Given the description of an element on the screen output the (x, y) to click on. 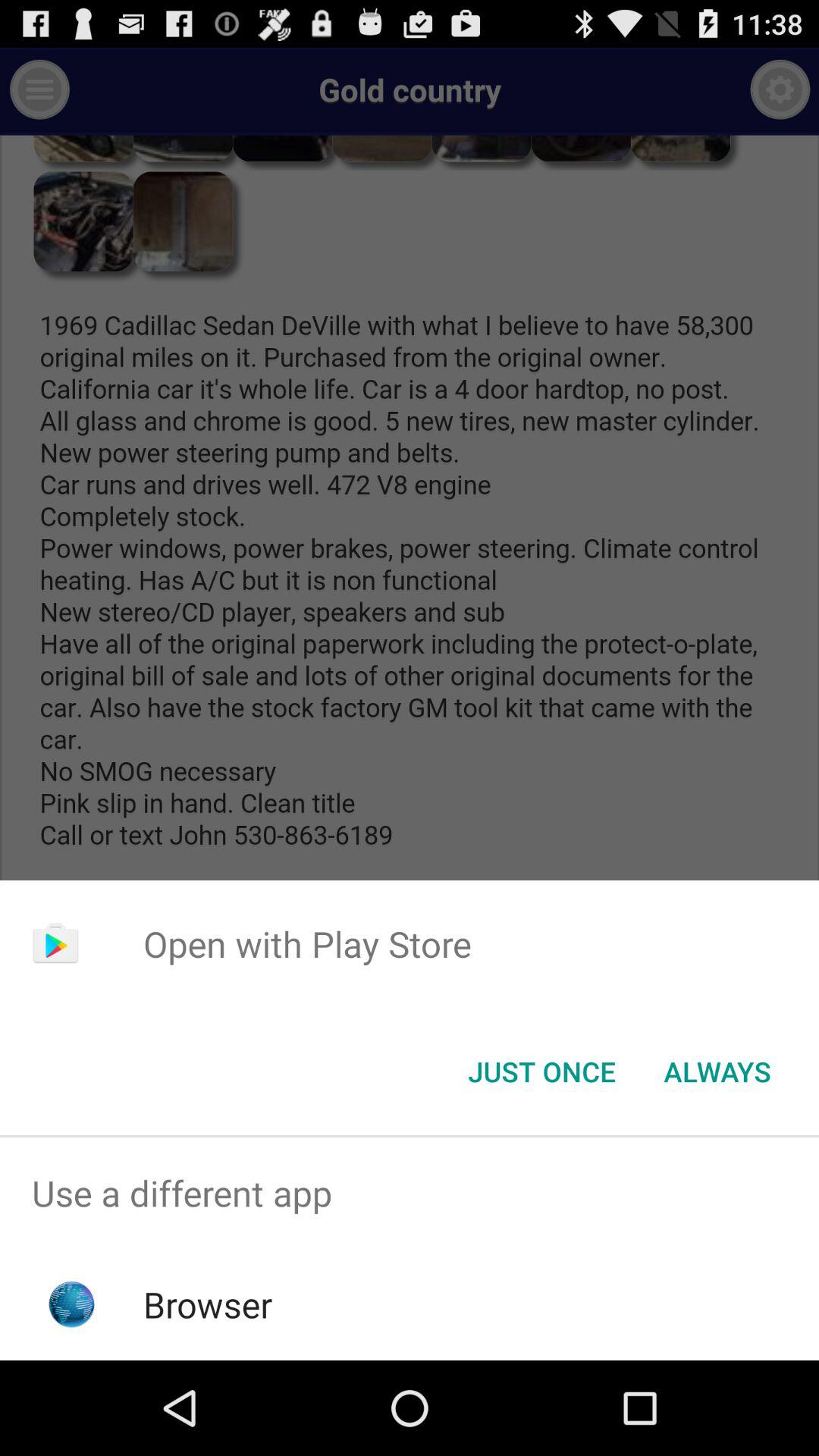
select the item to the right of just once icon (717, 1071)
